Given the description of an element on the screen output the (x, y) to click on. 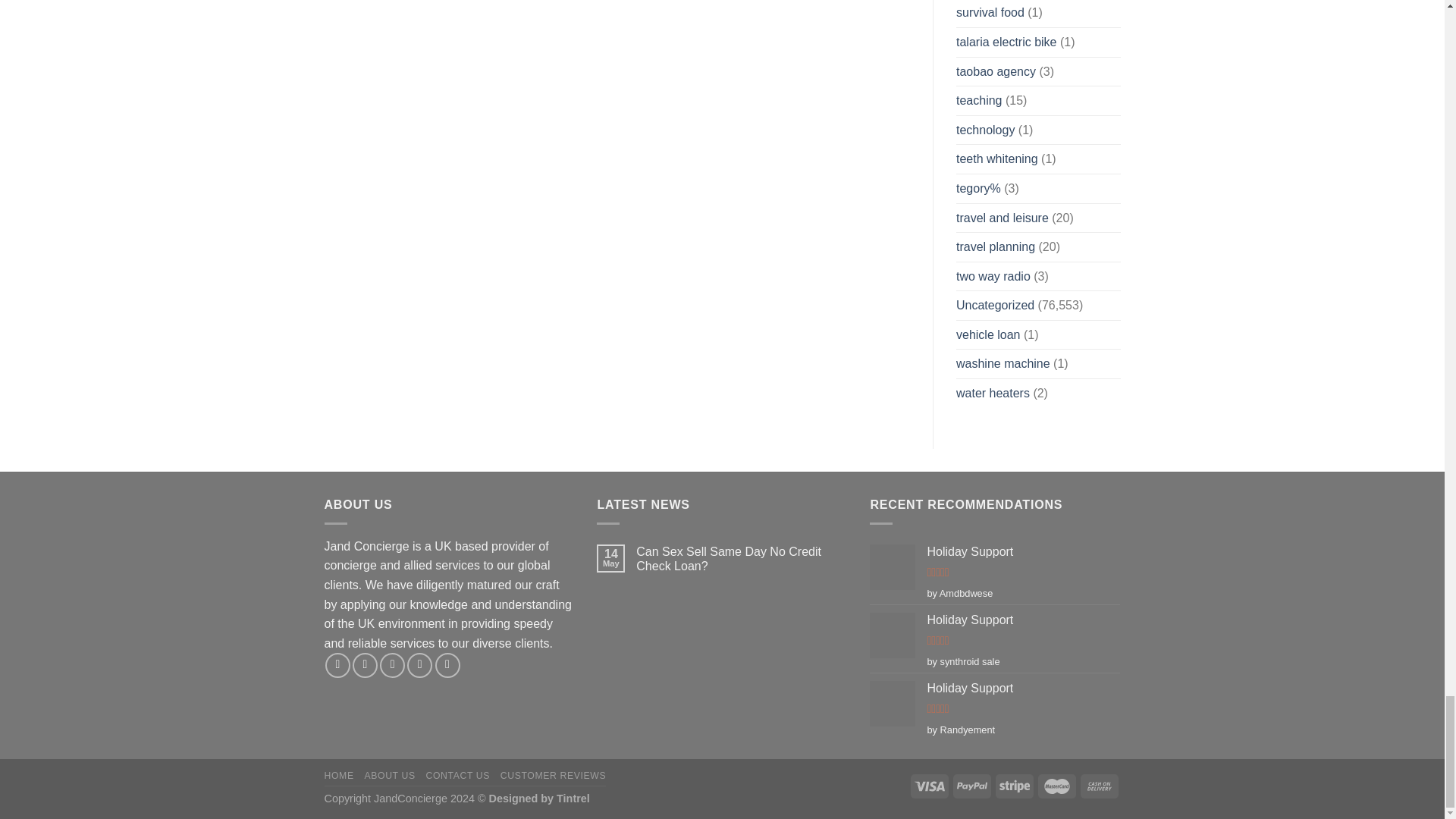
Can Sex Sell Same Day No Credit Check Loan? (741, 558)
